Given the description of an element on the screen output the (x, y) to click on. 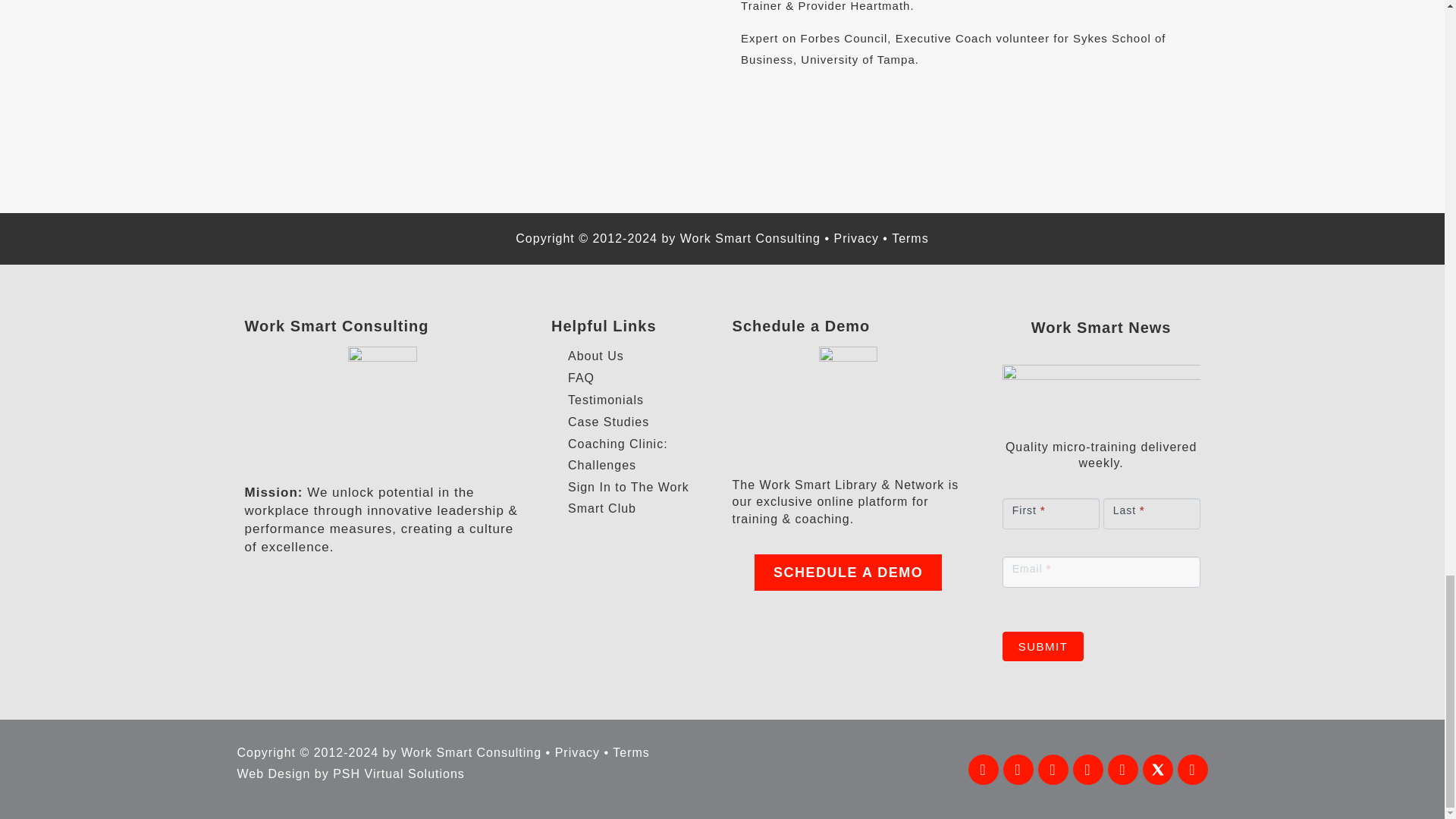
FAQ (634, 378)
Terms (909, 237)
Testimonials (634, 400)
Privacy (854, 237)
Case Studies (634, 422)
About Us (634, 355)
